Given the description of an element on the screen output the (x, y) to click on. 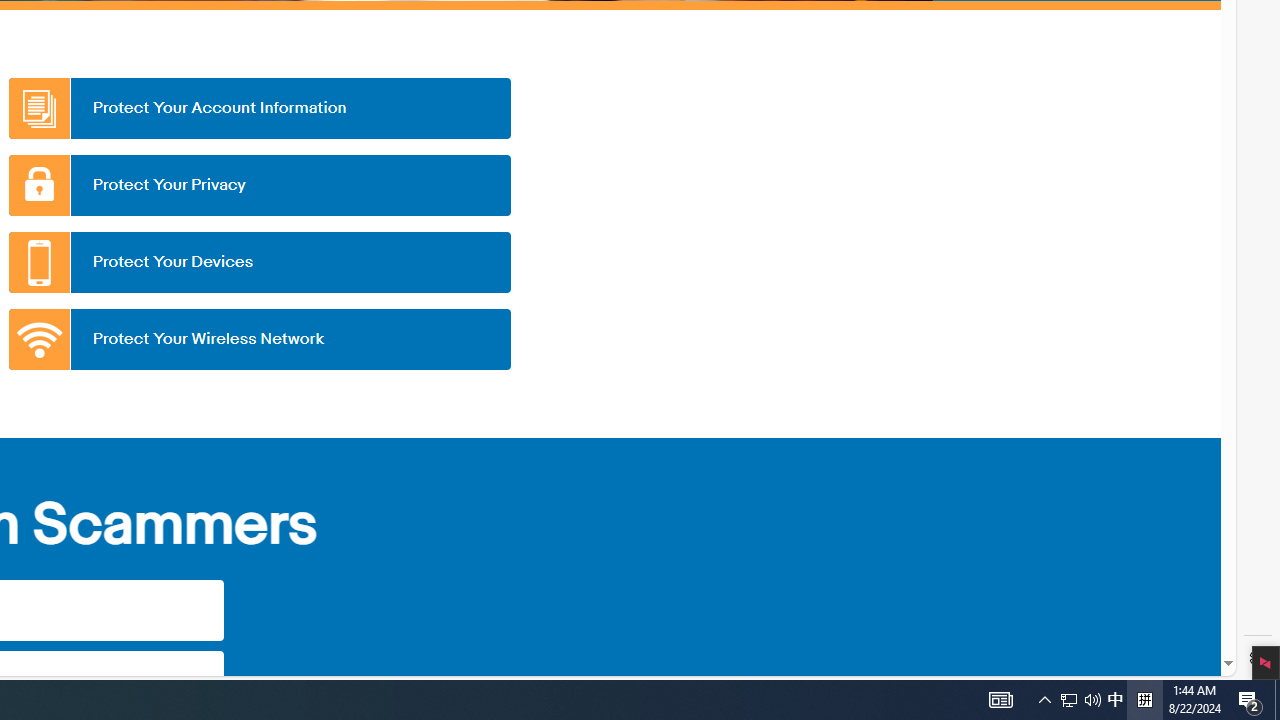
Protect Your Devices (259, 262)
Protect Your Wireless Network (259, 339)
Protect Your Privacy (259, 185)
Protect Your Account Information (259, 107)
